Given the description of an element on the screen output the (x, y) to click on. 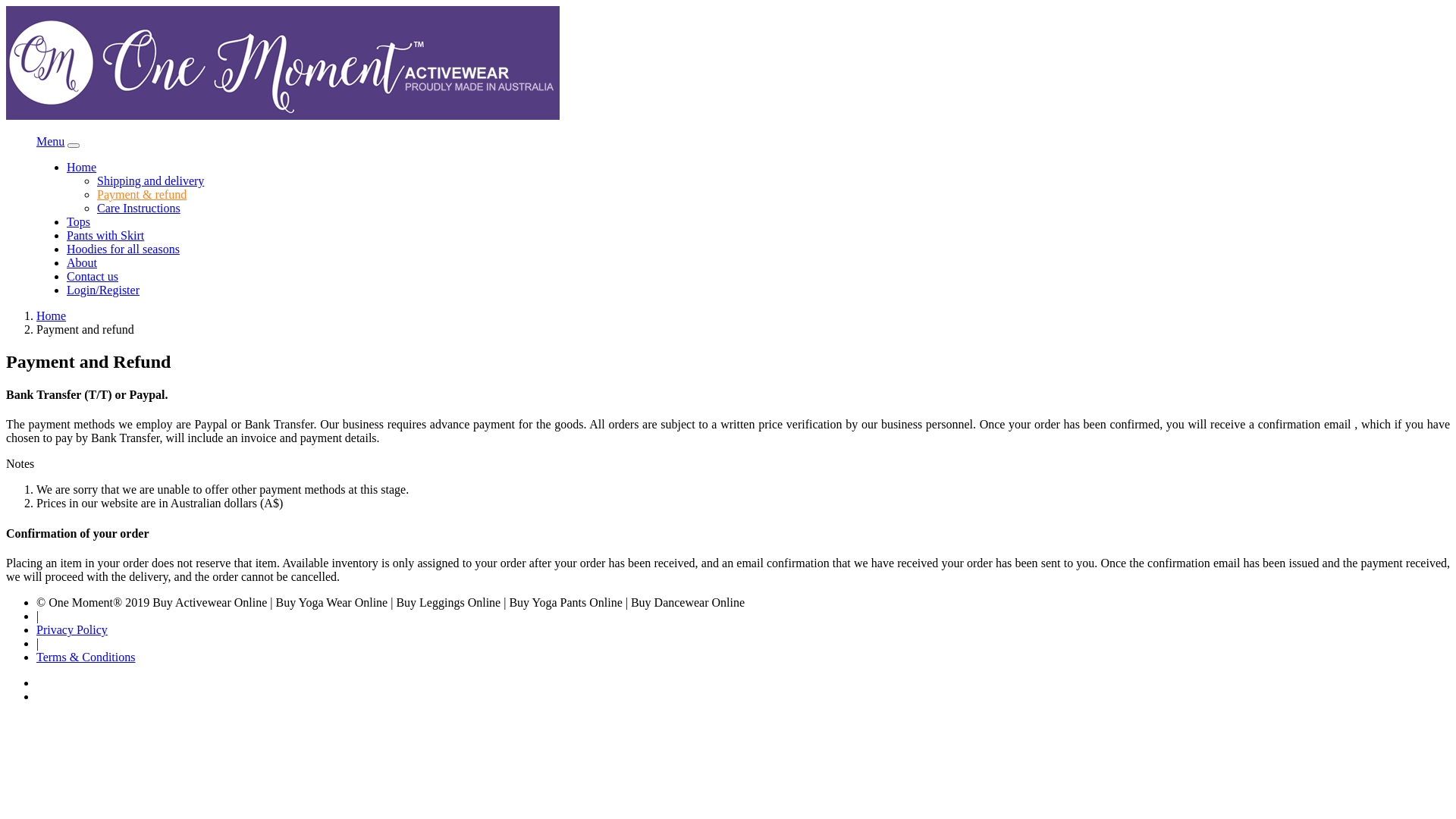
Privacy Policy Element type: text (71, 629)
Login/Register Element type: text (102, 289)
Care Instructions Element type: text (138, 207)
About Element type: text (81, 262)
Hoodies for all seasons Element type: text (122, 248)
Shipping and delivery Element type: text (150, 180)
Pants with Skirt Element type: text (105, 235)
Home Element type: text (50, 315)
Terms & Conditions Element type: text (85, 656)
Menu Element type: text (50, 140)
Tops Element type: text (78, 221)
Payment & refund Element type: text (141, 194)
Home Element type: text (81, 166)
Contact us Element type: text (92, 275)
